Given the description of an element on the screen output the (x, y) to click on. 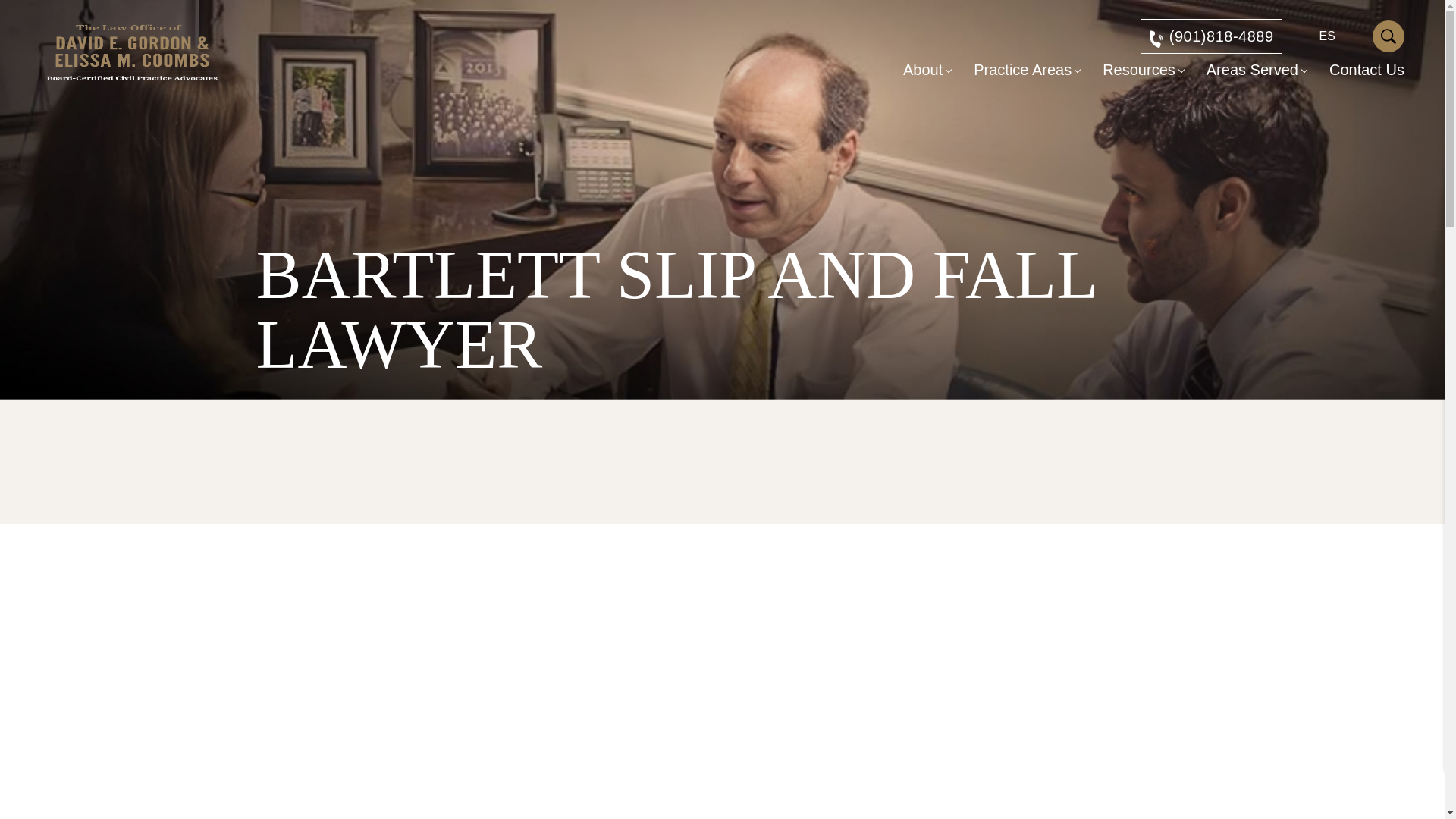
Practice Areas (1022, 69)
Resources (1138, 69)
ES (1327, 35)
Search (1388, 36)
About (922, 69)
Areas Served (1252, 69)
The Law Offices of David E. Gordon (132, 52)
